Given the description of an element on the screen output the (x, y) to click on. 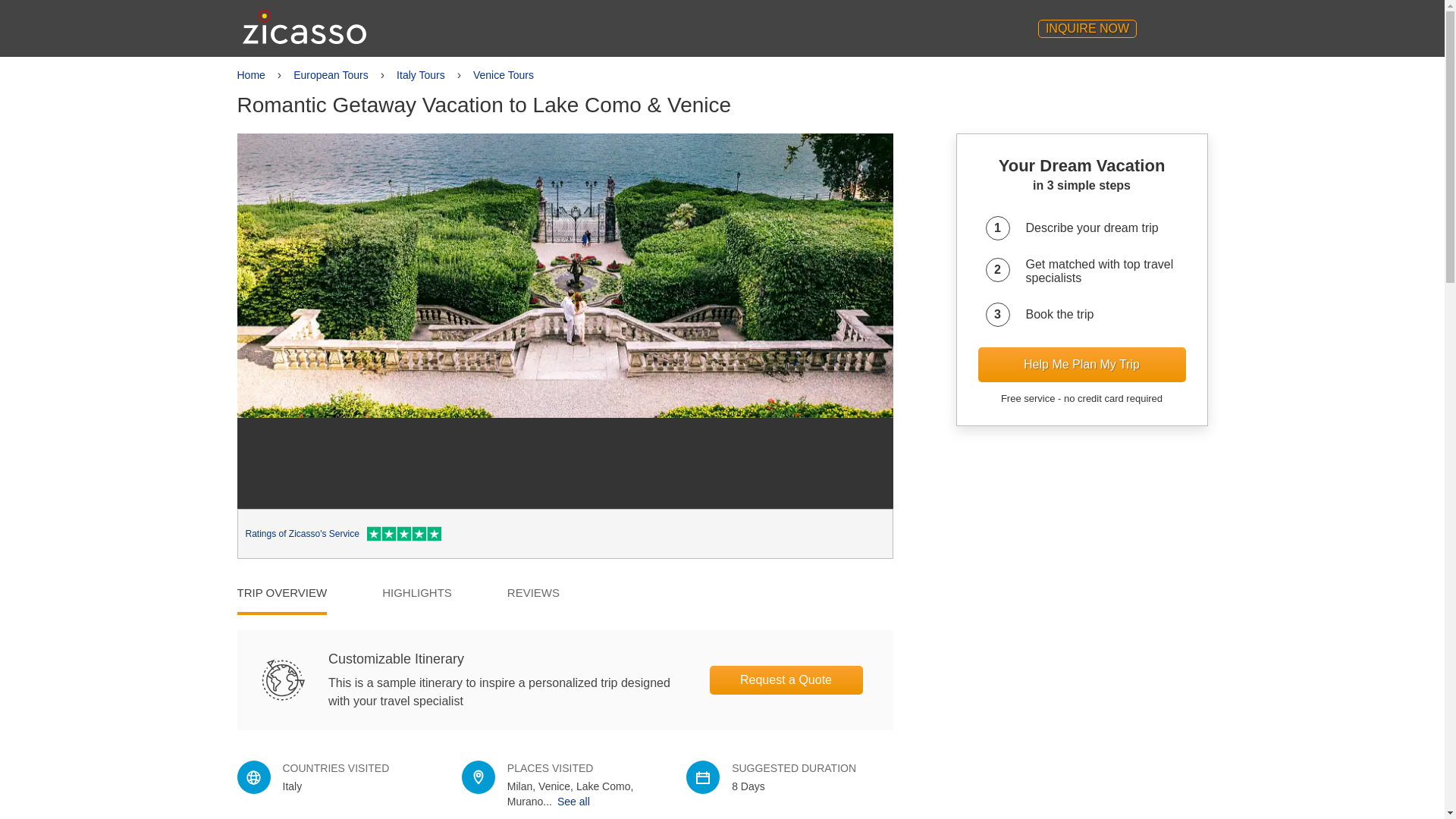
Zicasso Logo (304, 26)
INQUIRE NOW (1087, 28)
